Given the description of an element on the screen output the (x, y) to click on. 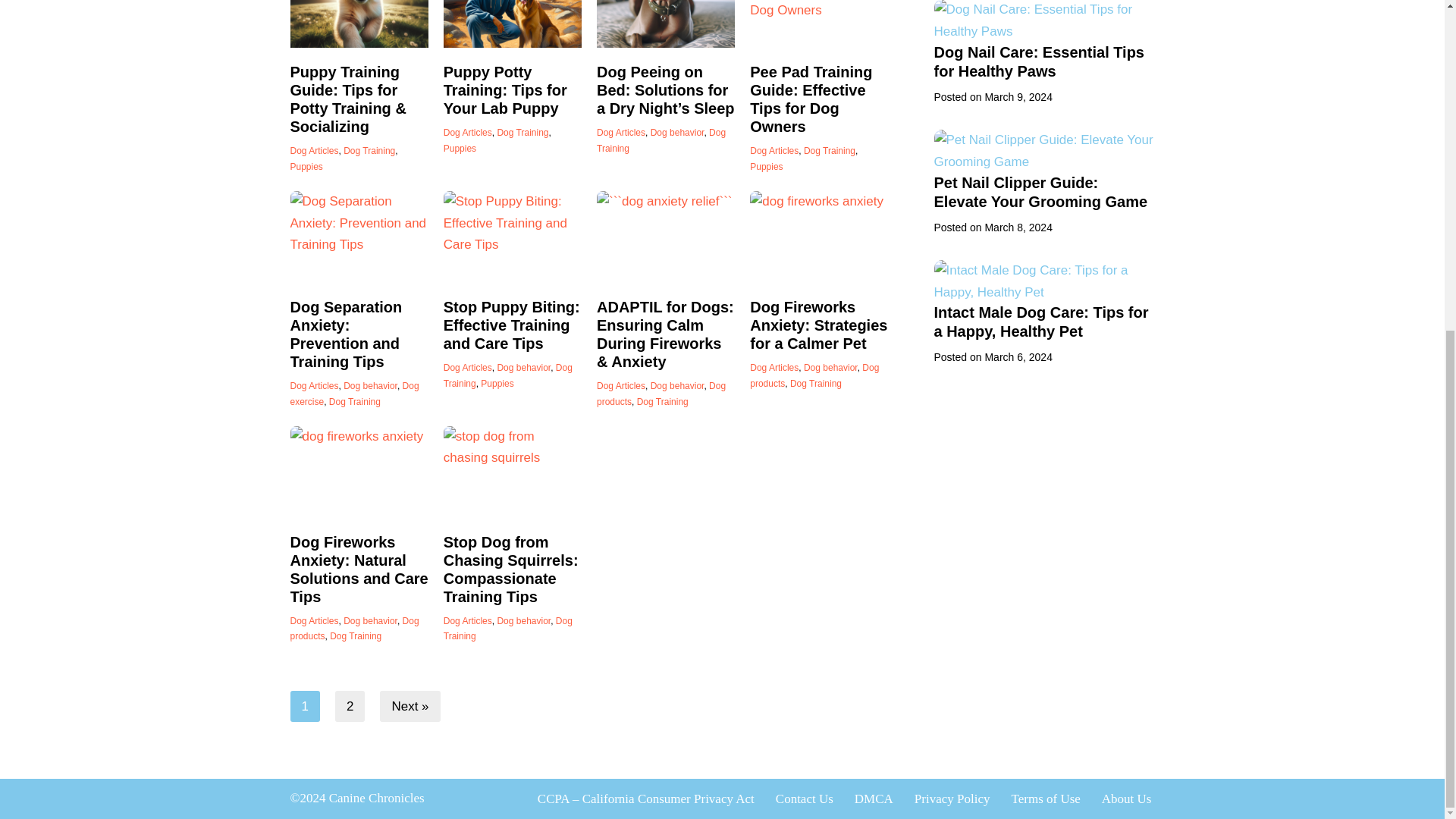
Dog Fireworks Anxiety: Strategies for a Calmer Pet (818, 236)
Dog Fireworks Anxiety: Natural Solutions and Care Tips (358, 471)
Puppy Potty Training: Tips for Your Lab Puppy (512, 24)
Dog Separation Anxiety: Prevention and Training Tips (358, 236)
Stop Dog from Chasing Squirrels: Compassionate Training Tips (512, 471)
Stop Puppy Biting: Effective Training and Care Tips (512, 236)
Pee Pad Training Guide: Effective Tips for Dog Owners (818, 24)
